Given the description of an element on the screen output the (x, y) to click on. 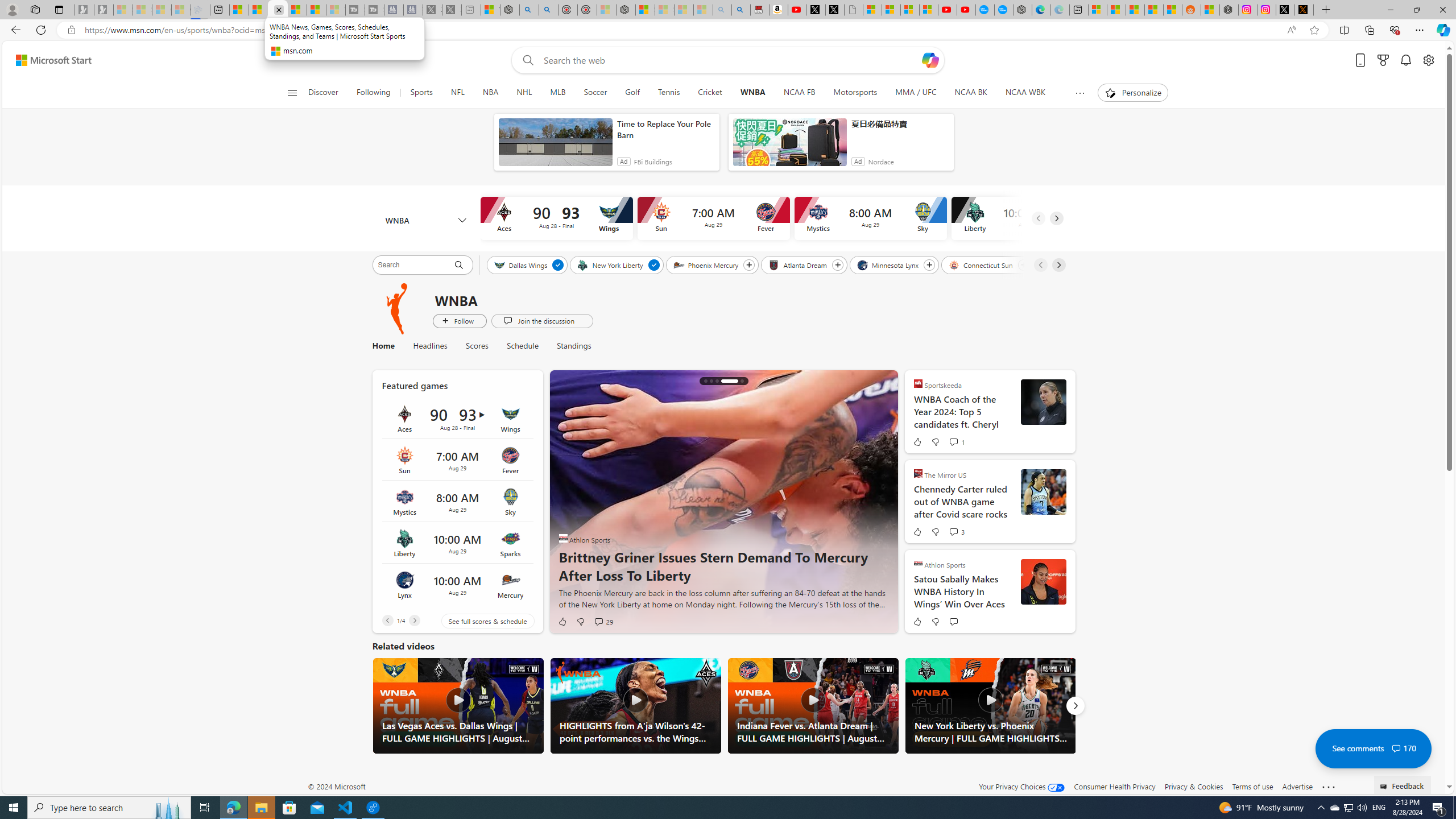
Motorsports (855, 92)
Athlon Sports (917, 563)
poe ++ standard - Search (548, 9)
NCAA WBK (1024, 92)
Streaming Coverage | T3 - Sleeping (354, 9)
WNBA (752, 92)
X - Sleeping (450, 9)
NHL (523, 92)
previous (565, 501)
Class: around-the-league-card (456, 584)
Web search (526, 60)
